Given the description of an element on the screen output the (x, y) to click on. 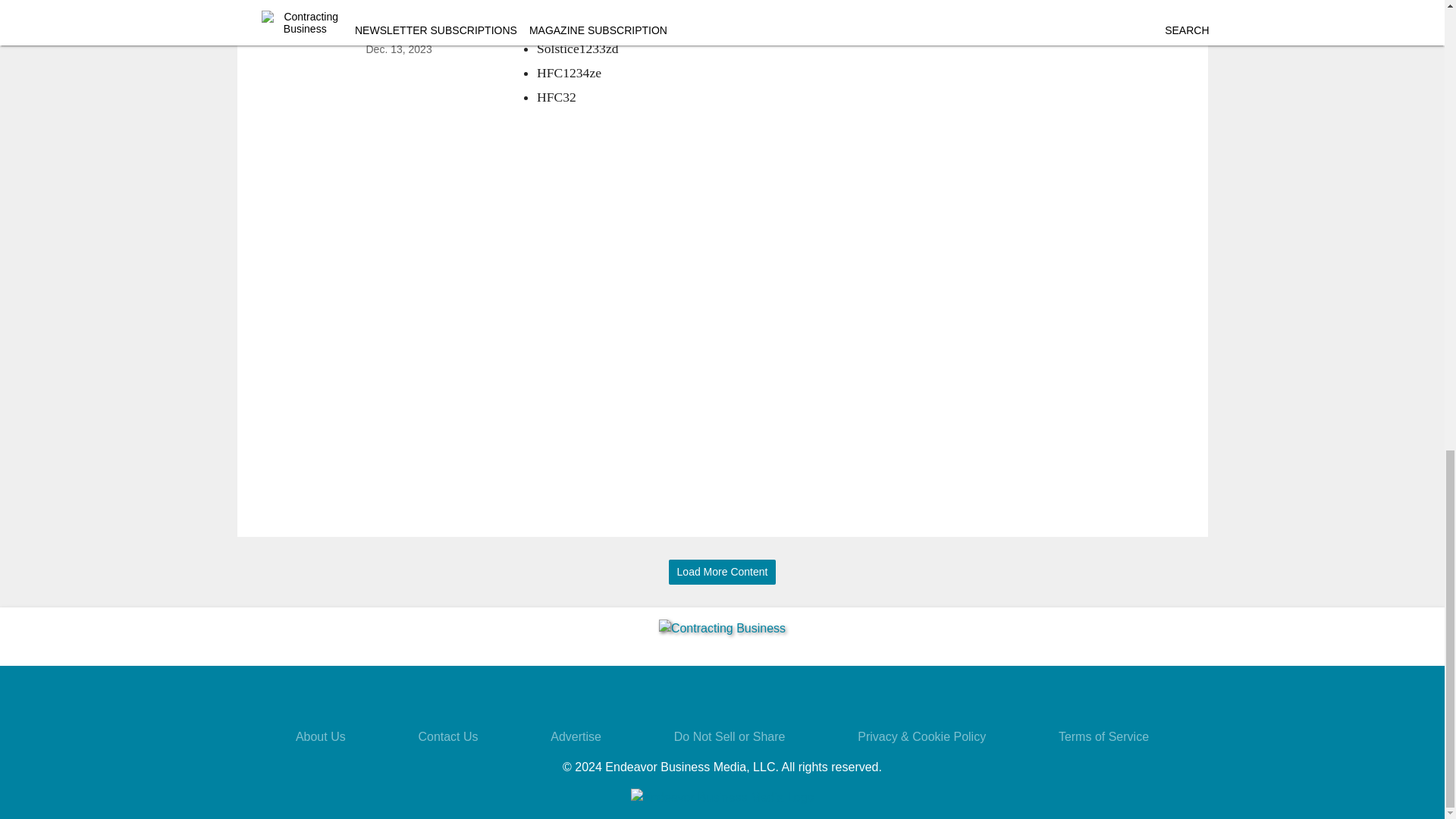
Contact Us (447, 736)
About Us (320, 736)
Do Not Sell or Share (730, 736)
Advertise (575, 736)
Load More Content (722, 571)
Terms of Service (1103, 736)
